Given the description of an element on the screen output the (x, y) to click on. 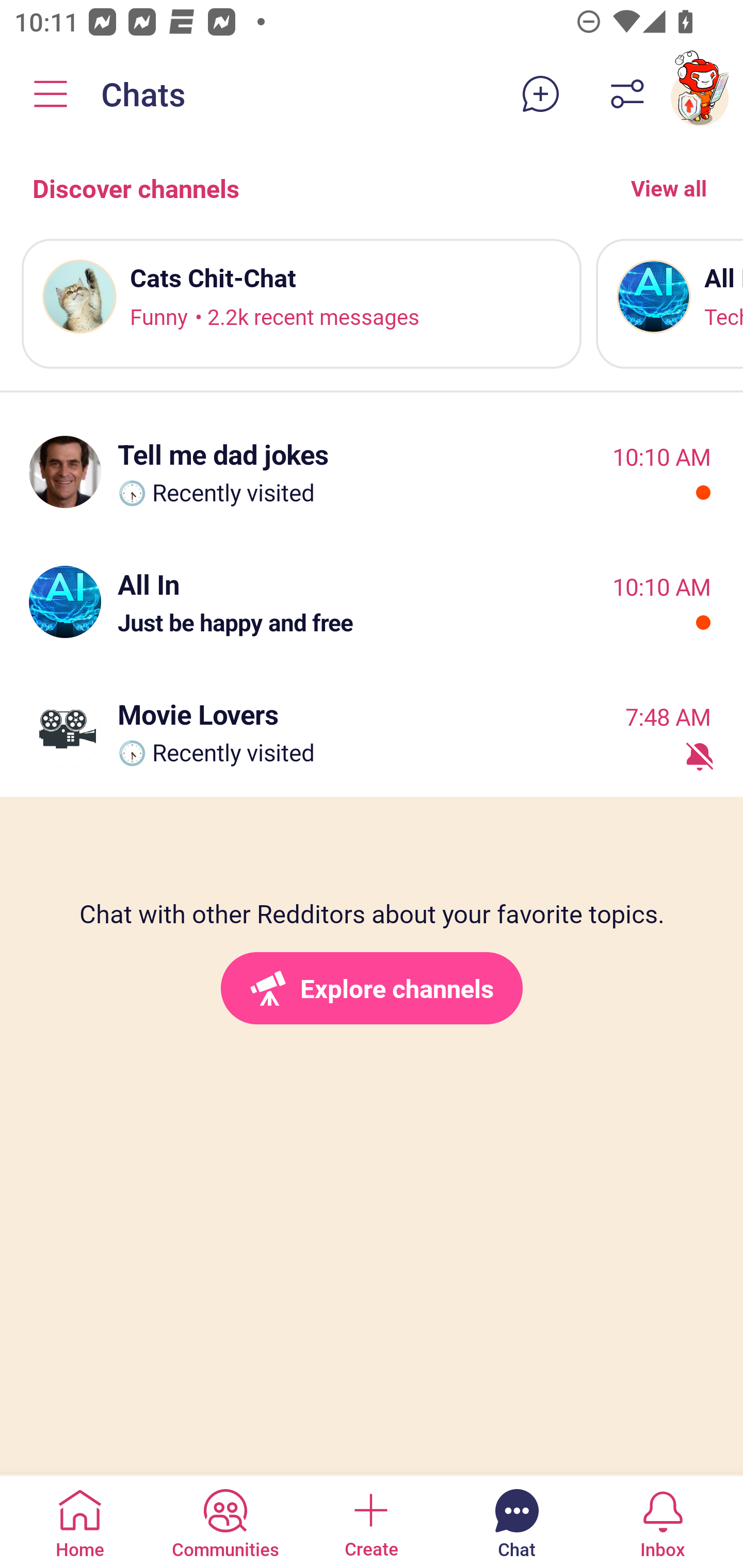
Community menu (50, 93)
New chat (540, 93)
Filter chats (626, 93)
TestAppium002 account (699, 93)
View all (668, 188)
Chat icon All In Tech News & Discussion (669, 303)
Tell me dad jokes 10:10 AM 🕟 Recently visited (371, 471)
All In 10:10 AM Just be happy and free (371, 601)
Movie Lovers 7:48 AM 🕟 Recently visited Muted (371, 731)
Explore channels (371, 988)
Home (80, 1520)
Communities (225, 1520)
Create a post Create (370, 1520)
Chat (516, 1520)
Inbox (662, 1520)
